Given the description of an element on the screen output the (x, y) to click on. 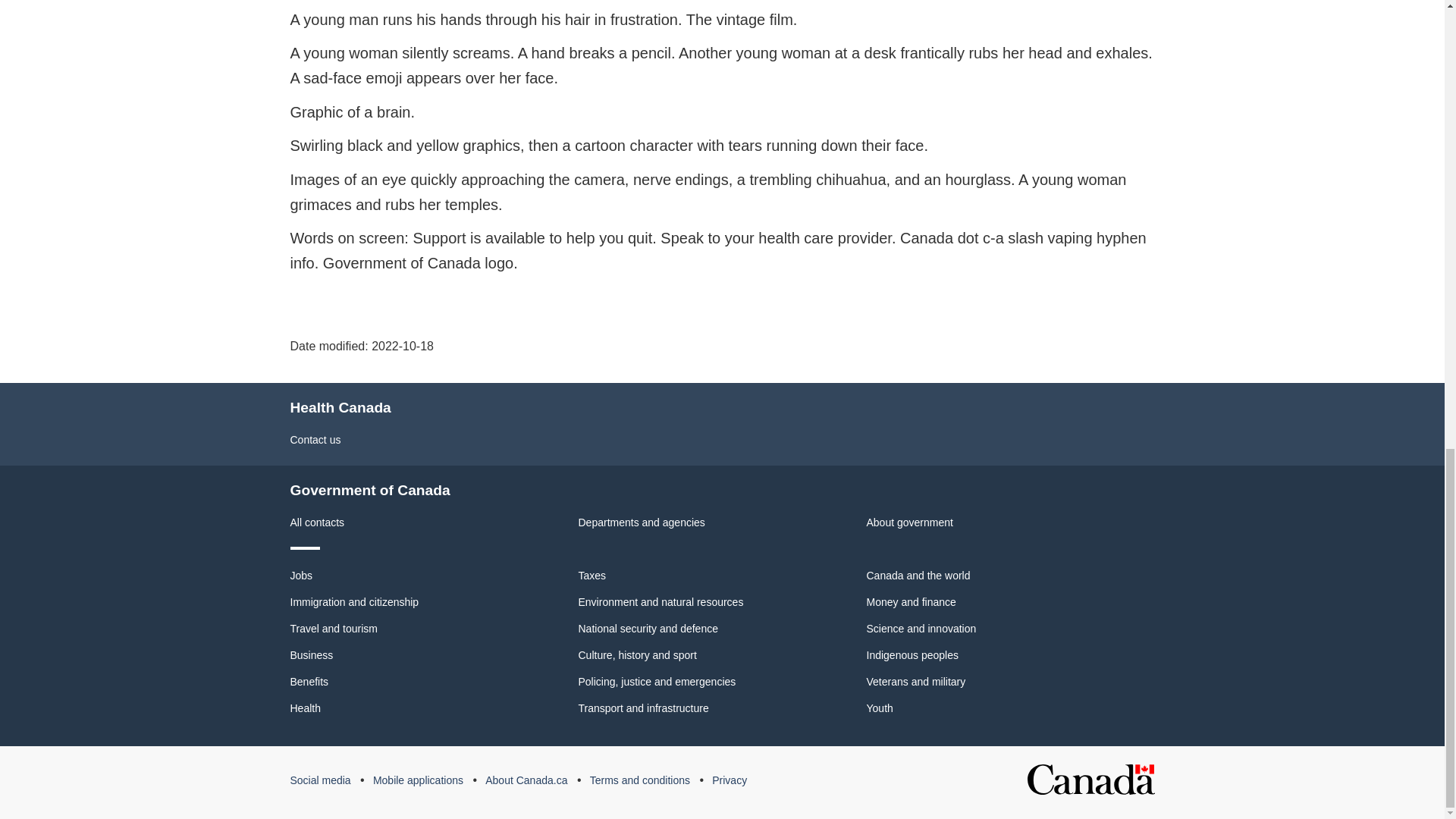
Contact us (314, 439)
Travel and tourism (333, 628)
National security and defence (647, 628)
Benefits (309, 681)
Immigration and citizenship (354, 602)
Jobs (301, 575)
Taxes (591, 575)
Culture, history and sport (636, 654)
About government (909, 522)
All contacts (316, 522)
Departments and agencies (641, 522)
Health (304, 707)
Environment and natural resources (660, 602)
Business (311, 654)
